Given the description of an element on the screen output the (x, y) to click on. 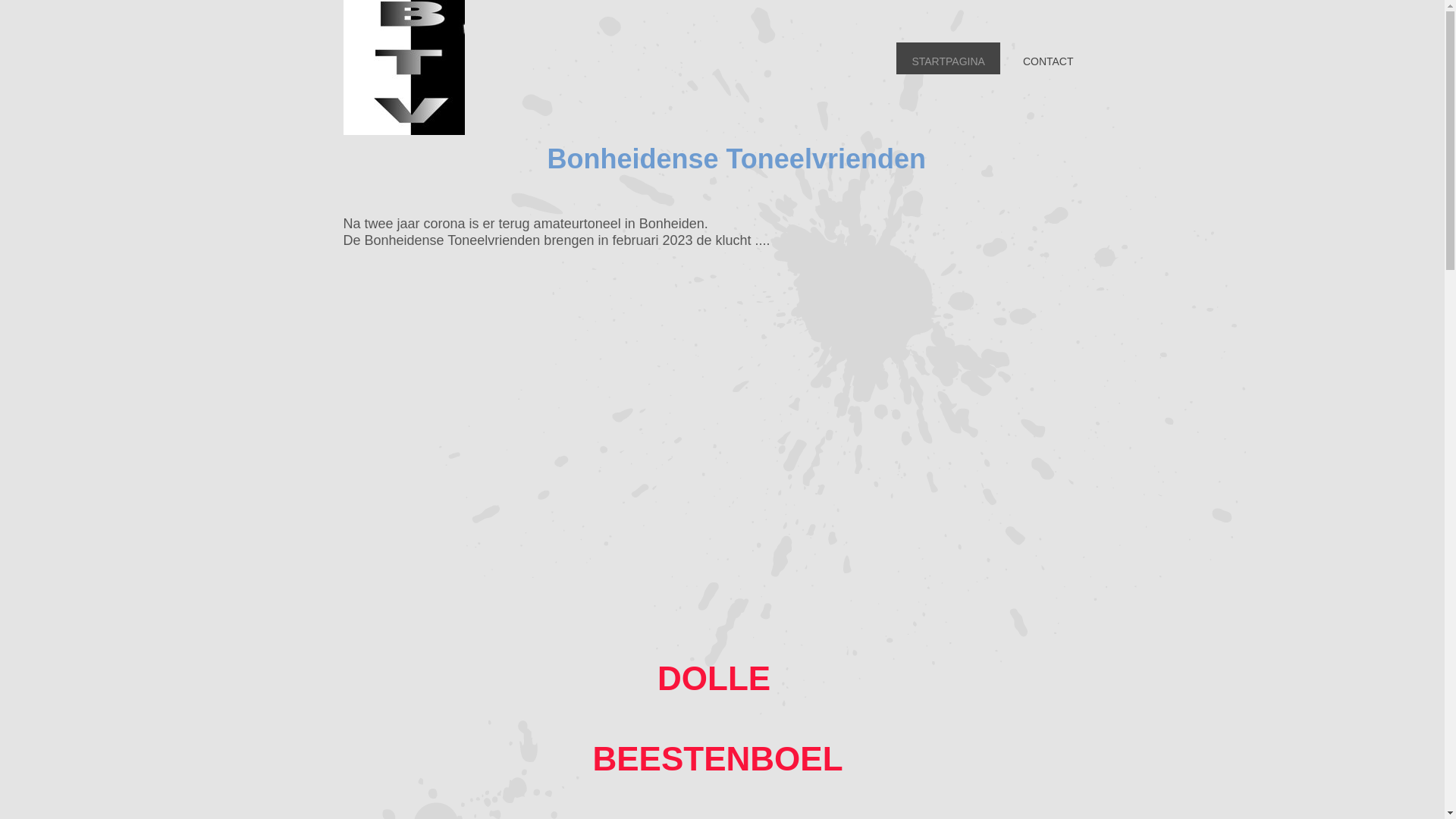
STARTPAGINA Element type: text (947, 58)
CONTACT Element type: text (1047, 58)
